Given the description of an element on the screen output the (x, y) to click on. 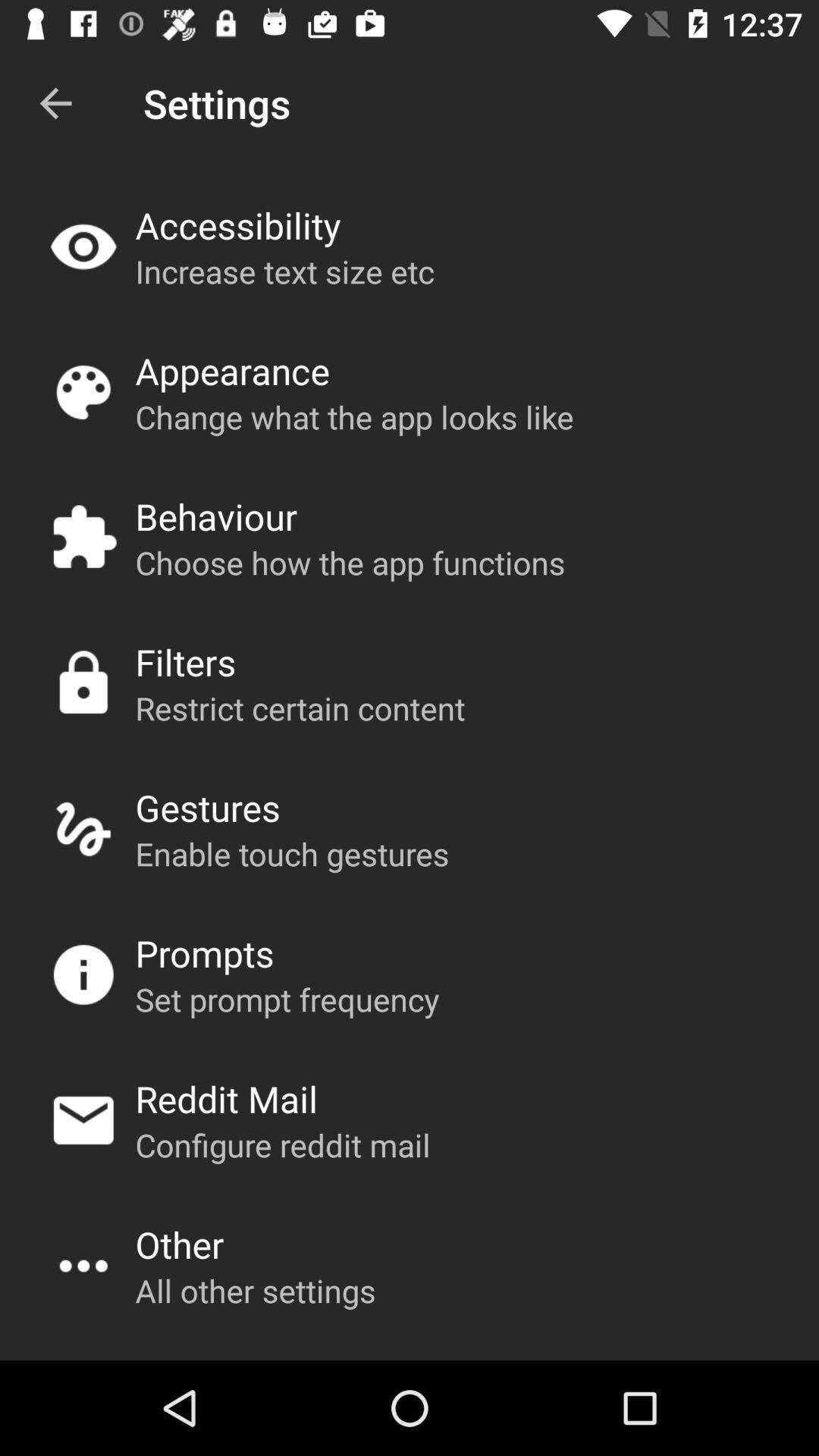
choose the item above set prompt frequency (204, 952)
